Given the description of an element on the screen output the (x, y) to click on. 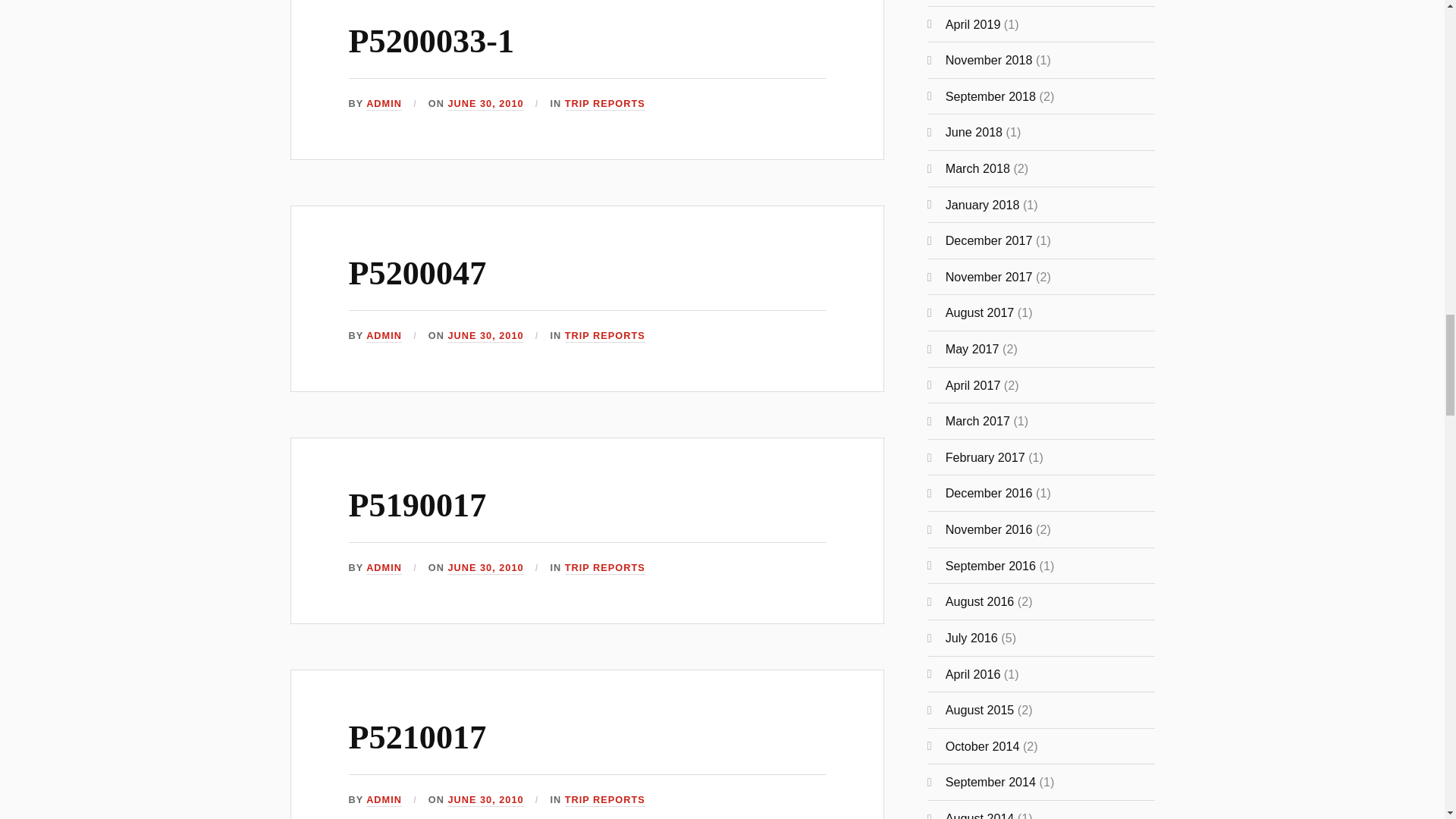
TRIP REPORTS (604, 567)
ADMIN (383, 103)
JUNE 30, 2010 (484, 103)
TRIP REPORTS (604, 336)
ADMIN (383, 336)
JUNE 30, 2010 (484, 336)
TRIP REPORTS (604, 103)
P5200033-1 (431, 40)
P5190017 (417, 505)
P5200047 (417, 272)
ADMIN (383, 567)
JUNE 30, 2010 (484, 567)
